Given the description of an element on the screen output the (x, y) to click on. 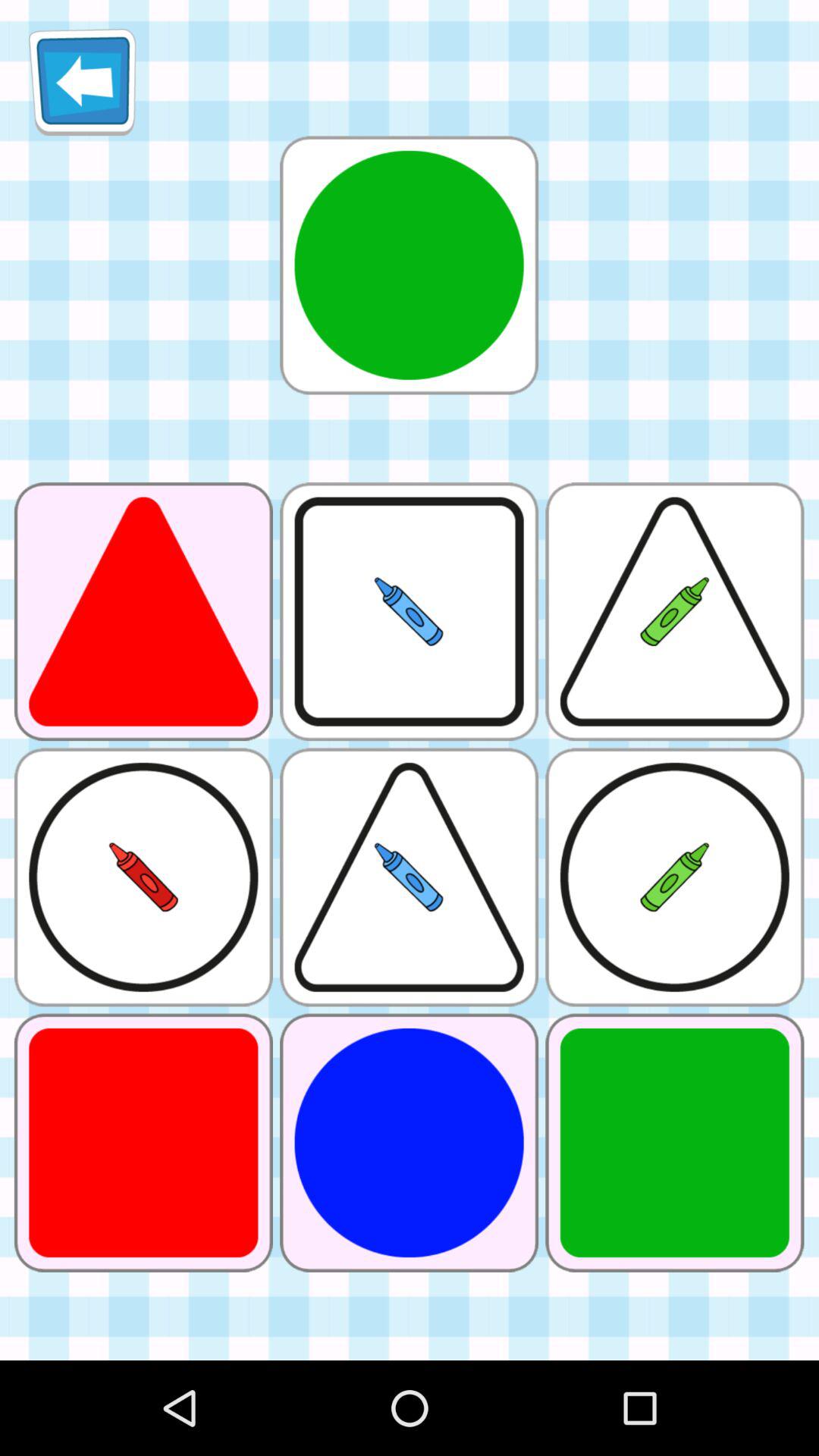
circle with green colour (409, 265)
